Given the description of an element on the screen output the (x, y) to click on. 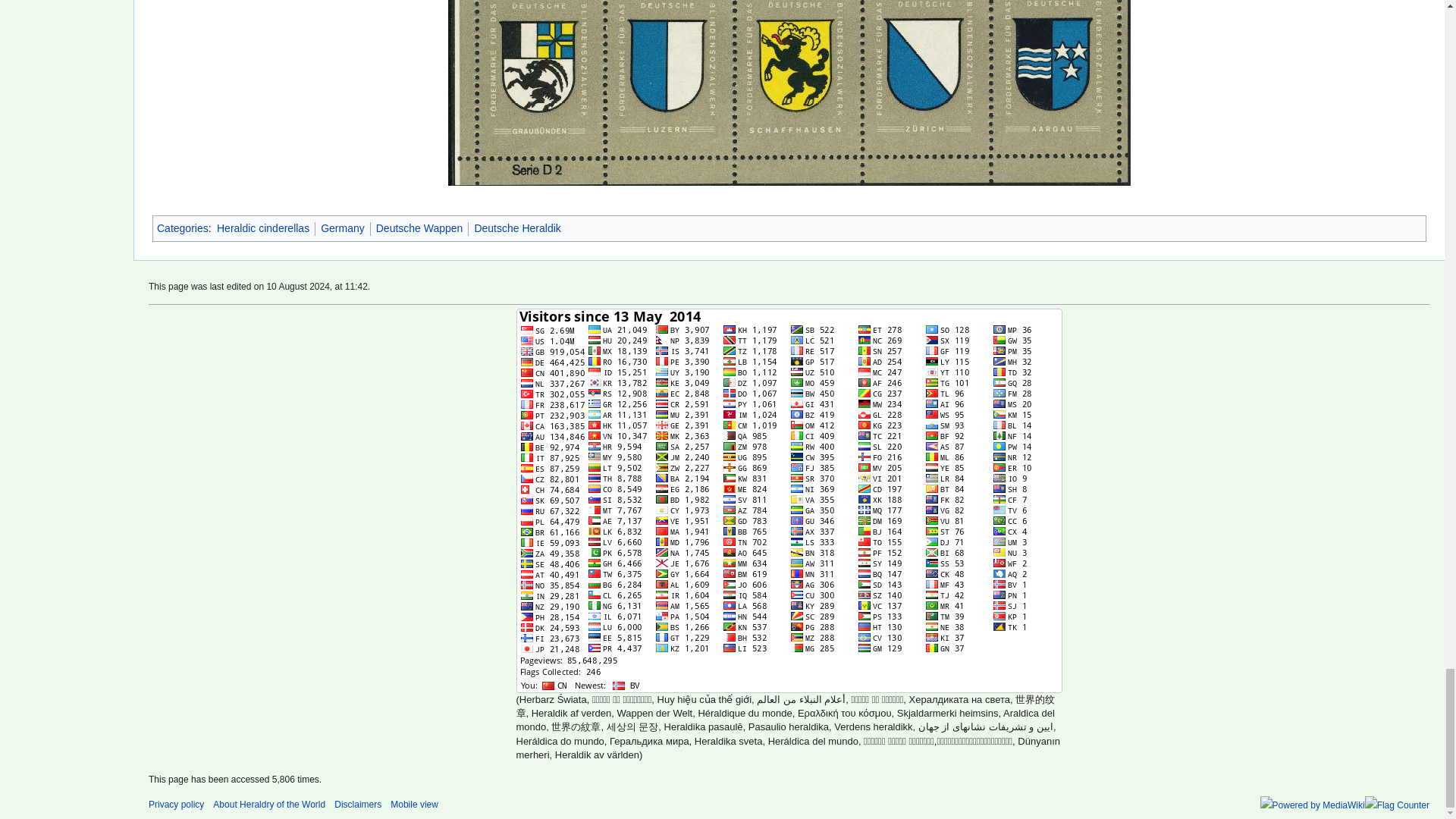
Deutsche Heraldik (517, 227)
Heraldic cinderellas (262, 227)
Category:Germany (342, 227)
Special:Categories (182, 227)
Deutsche Wappen (419, 227)
Germany (342, 227)
Category:Deutsche Wappen (419, 227)
Categories (182, 227)
Category:Heraldic cinderellas (262, 227)
Category:Deutsche Heraldik (517, 227)
